Given the description of an element on the screen output the (x, y) to click on. 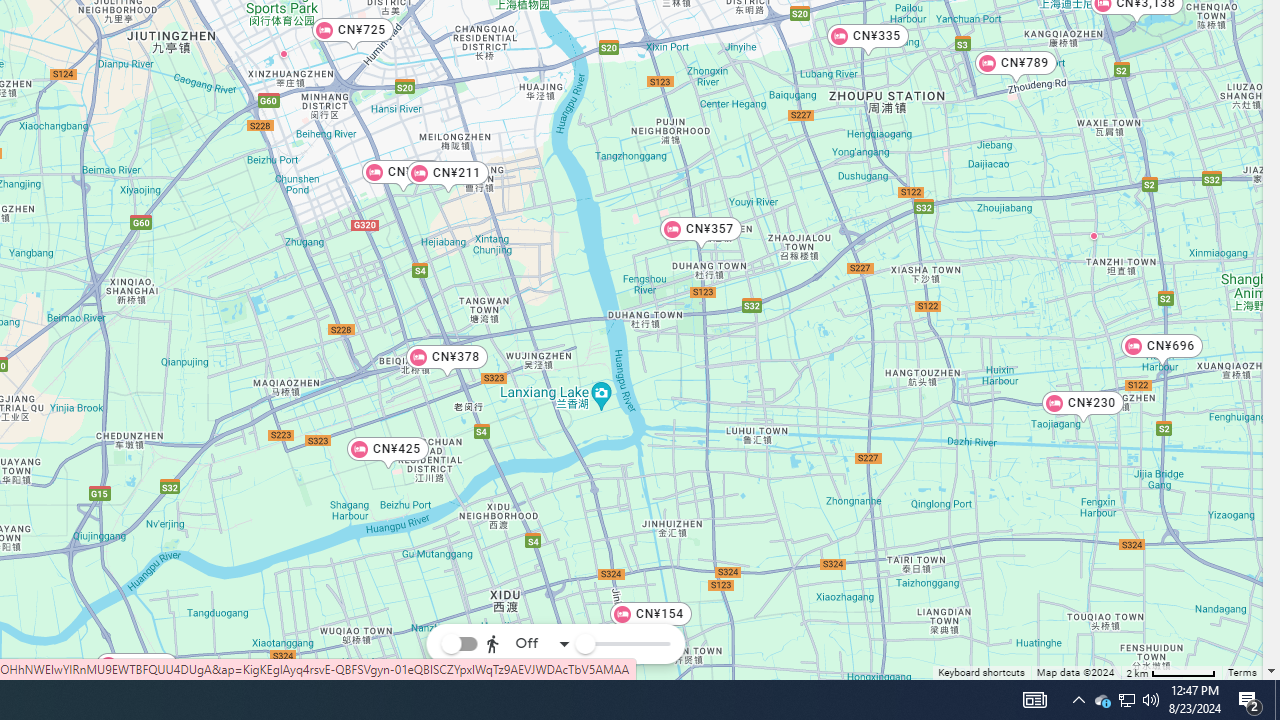
Hanting Premium Hotel Shanghai Xinzhuang Business (283, 53)
Off (527, 643)
Toggle reachability layer (459, 643)
Drive (523, 588)
Walk (523, 544)
Venus International Hotel Shanghai South Shenjiang Road (1093, 235)
